Given the description of an element on the screen output the (x, y) to click on. 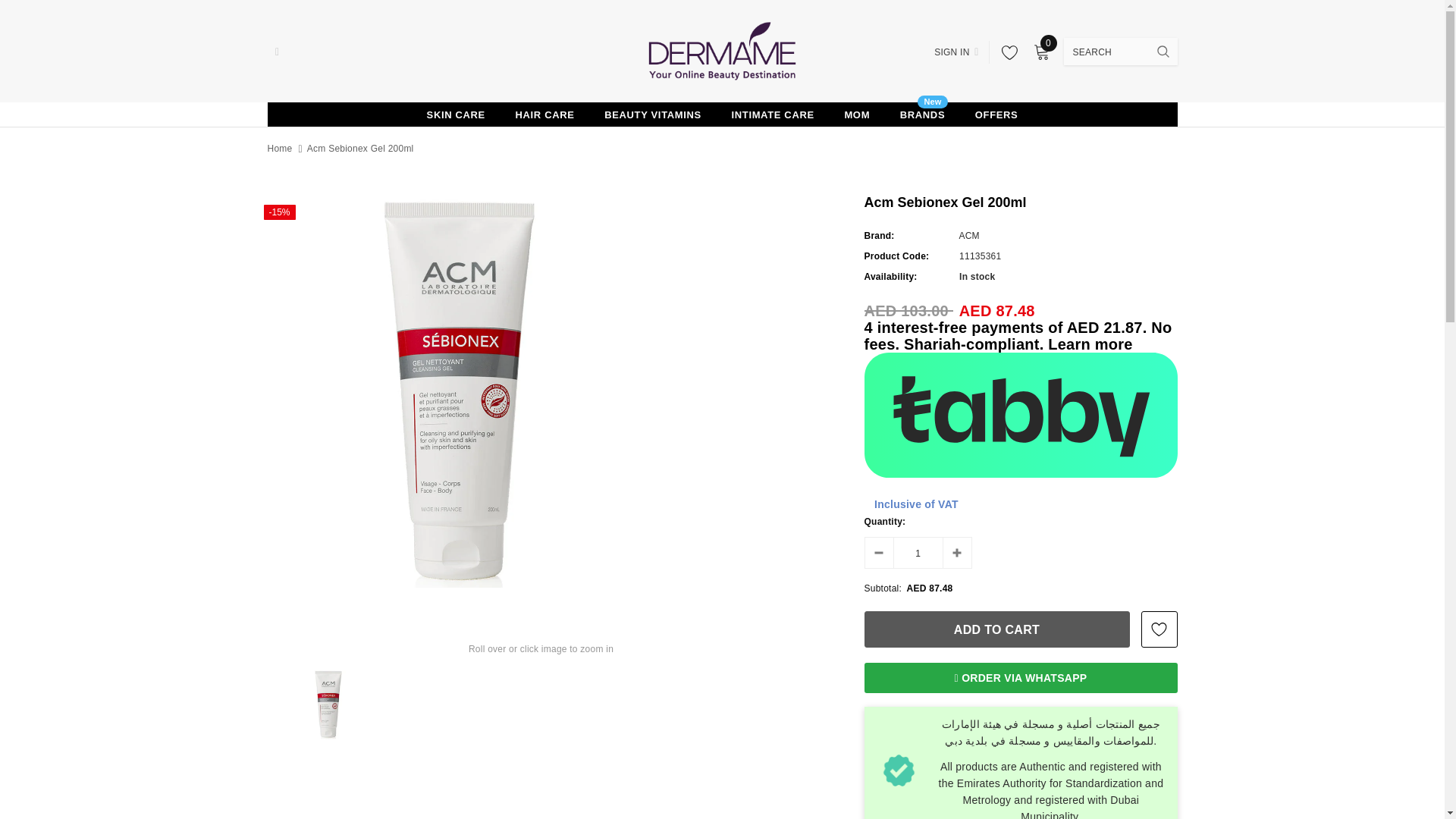
SIGN IN (956, 52)
Add to Cart (996, 628)
1 (917, 552)
